Given the description of an element on the screen output the (x, y) to click on. 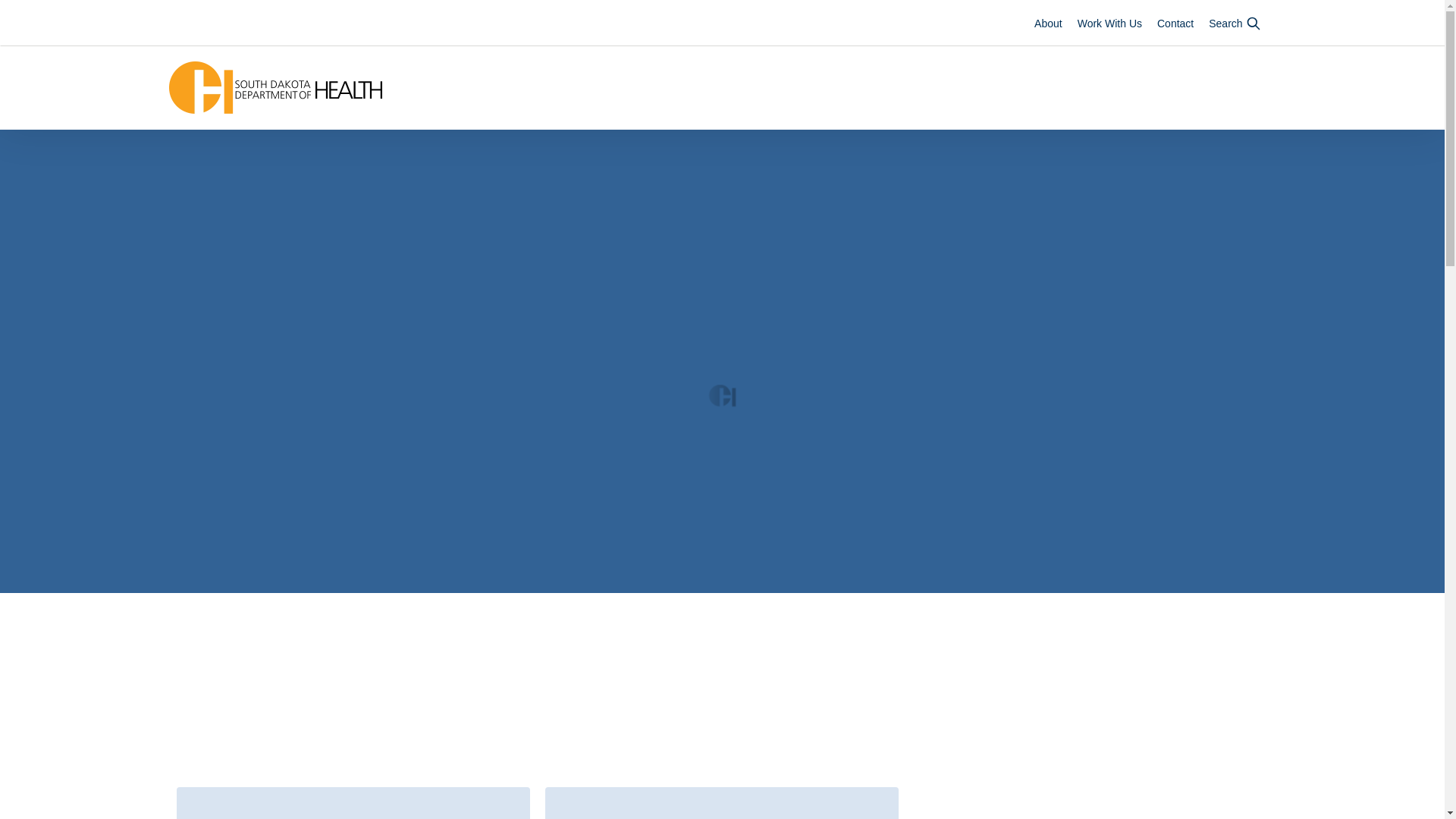
Work With Us (1109, 23)
Contact (1175, 23)
Search (1234, 23)
About (1047, 23)
